Given the description of an element on the screen output the (x, y) to click on. 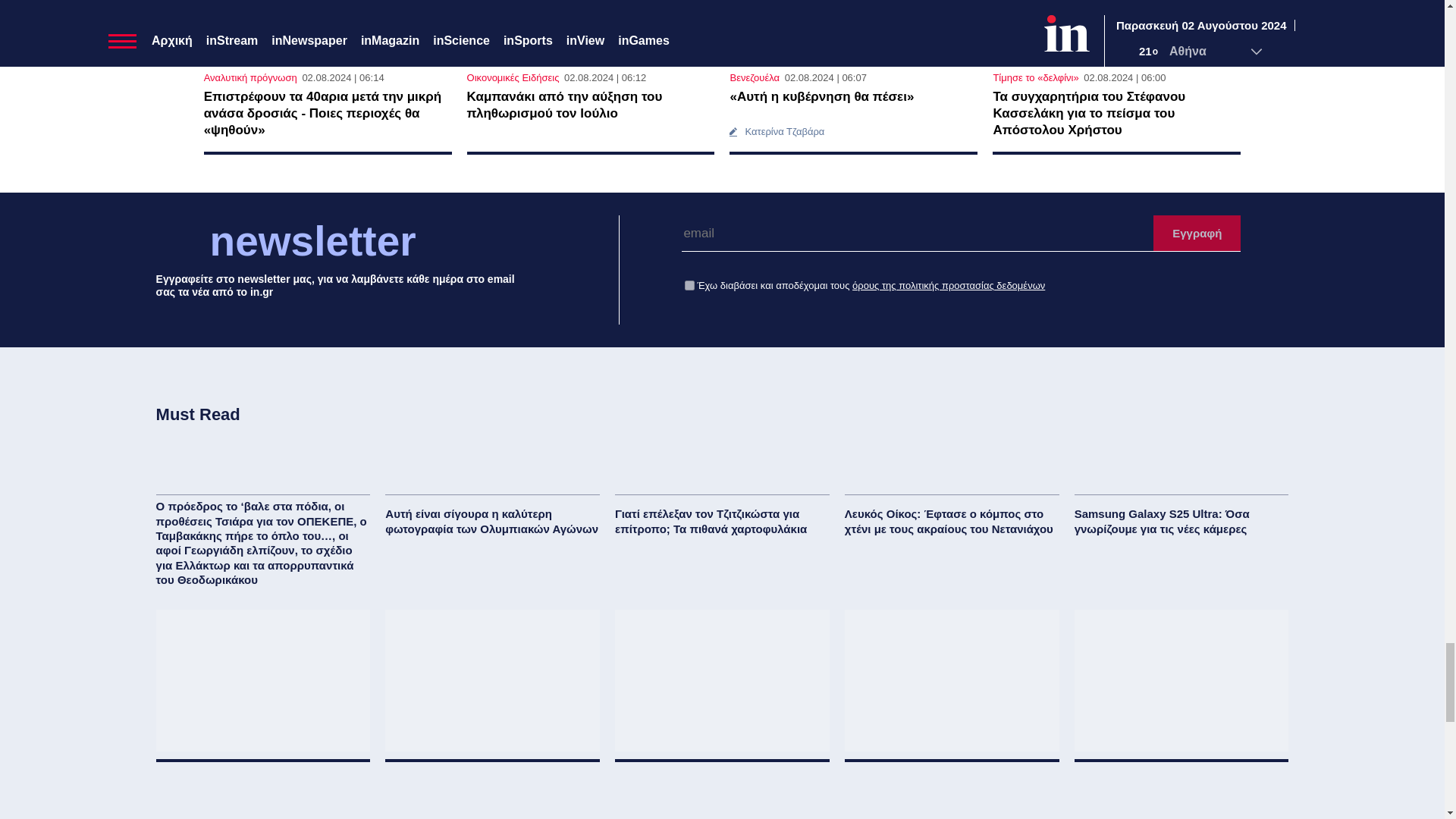
on (689, 285)
